Given the description of an element on the screen output the (x, y) to click on. 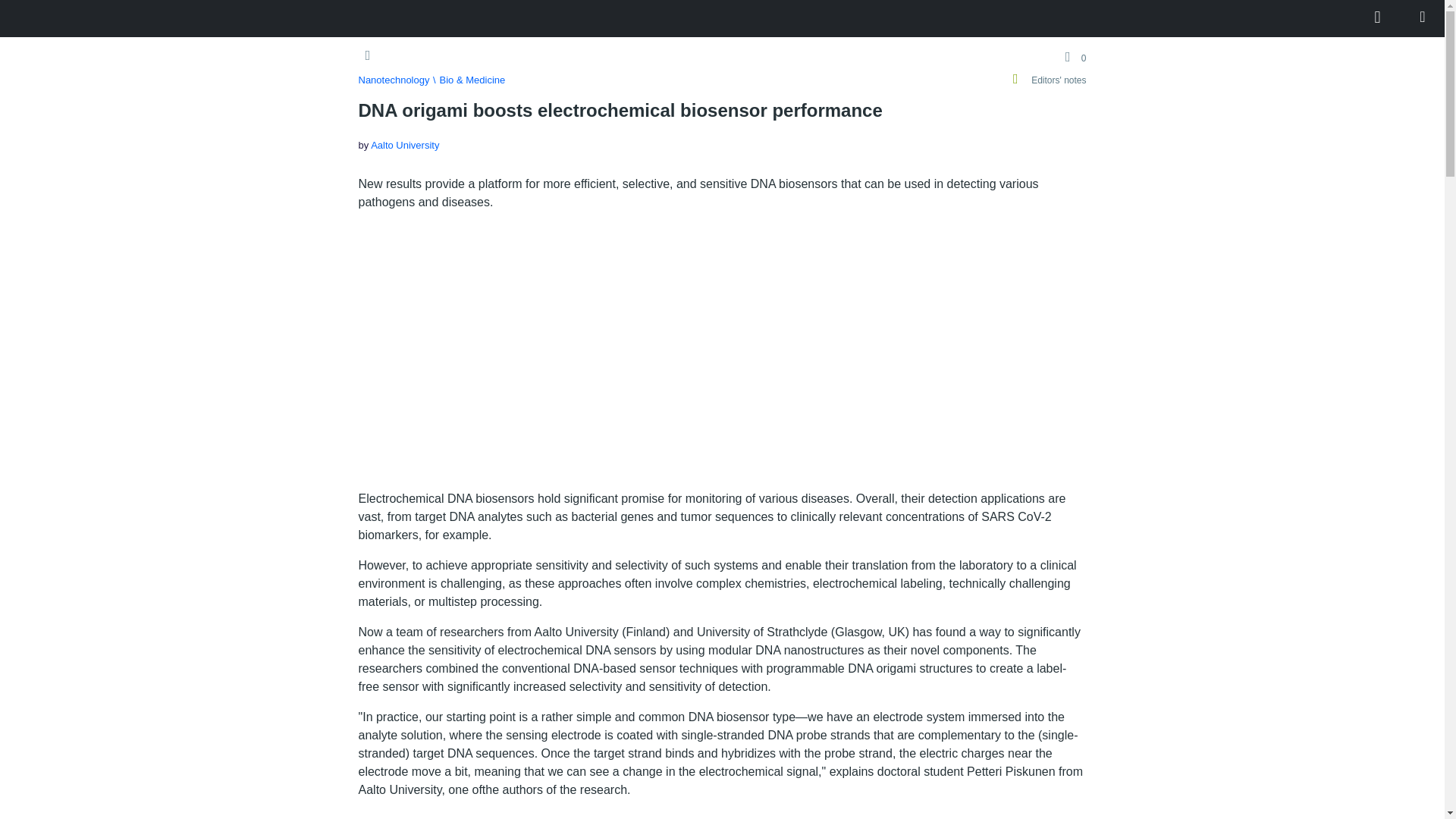
0 (1072, 56)
Nanotechnology (393, 79)
Aalto University (405, 144)
